Given the description of an element on the screen output the (x, y) to click on. 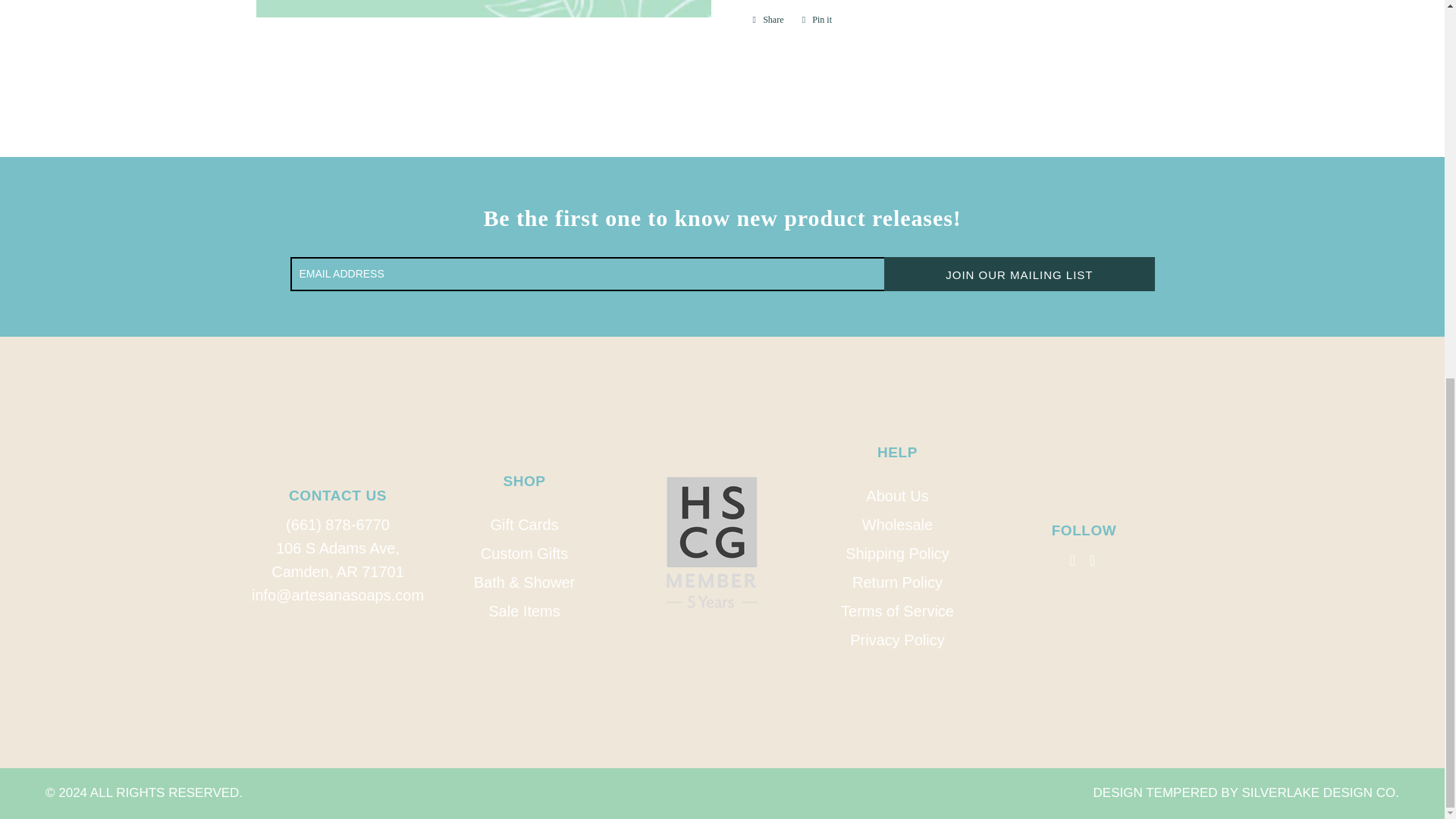
ARTESANA Soaps on Facebook (1073, 559)
Pin on Pinterest (817, 19)
ARTESANA Soaps on Instagram (1093, 559)
Share on Facebook (767, 19)
